Given the description of an element on the screen output the (x, y) to click on. 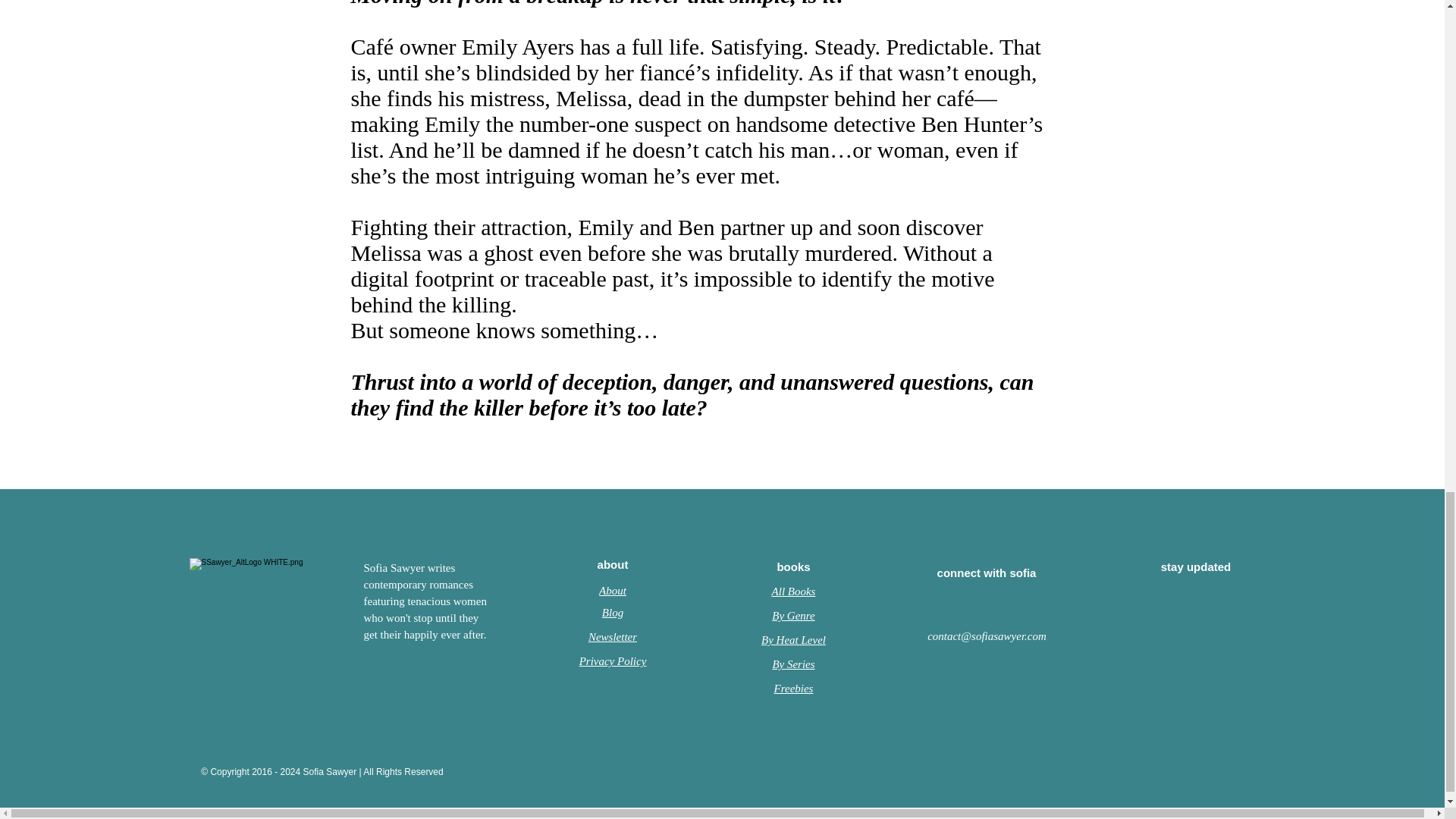
Privacy Policy (612, 660)
By Series (792, 664)
By Heat Level (793, 639)
Newsletter (612, 636)
Freebies (793, 688)
By Genre (793, 615)
All Books (793, 590)
About (612, 590)
Blog (612, 612)
